Given the description of an element on the screen output the (x, y) to click on. 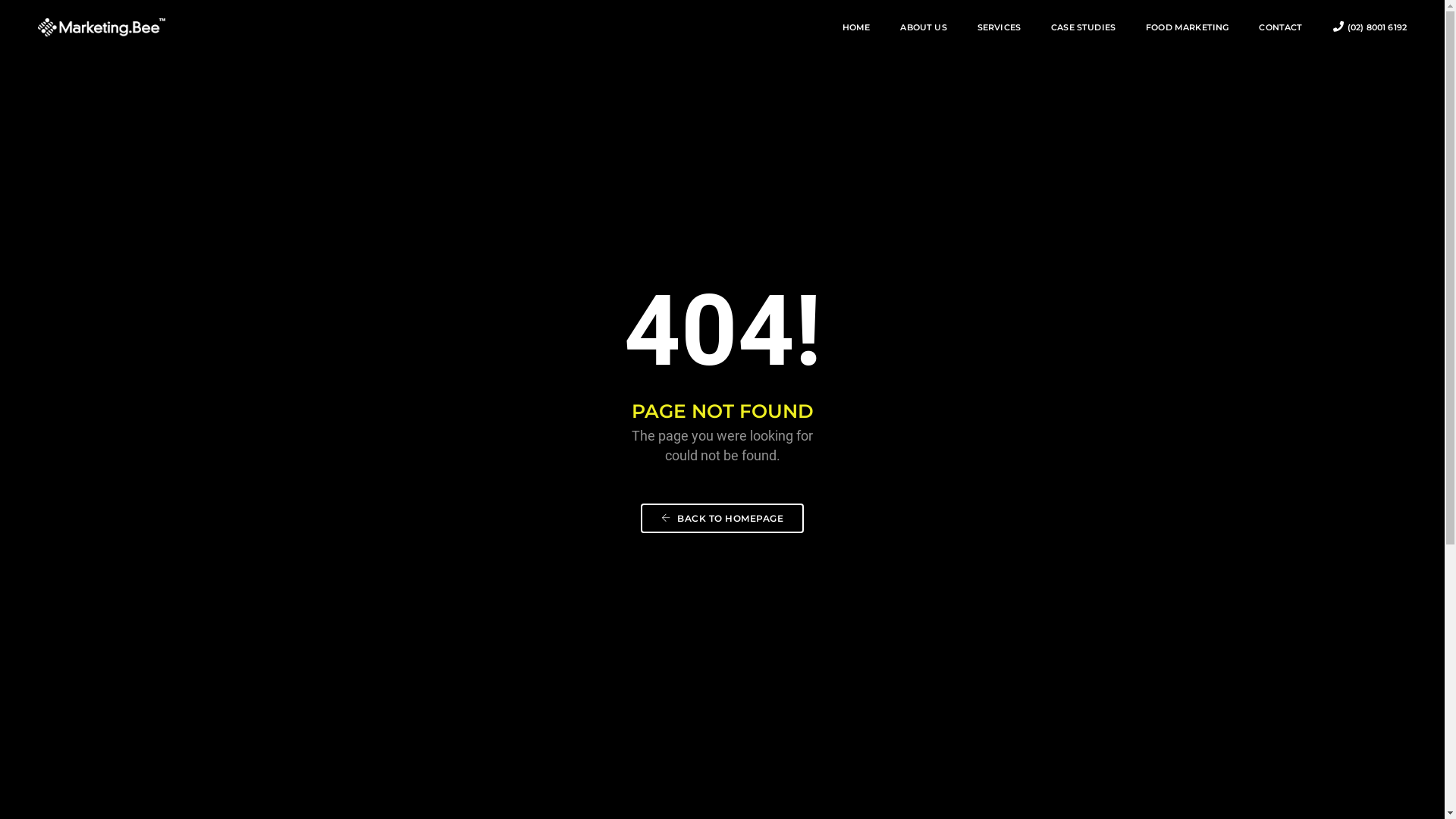
 BACK TO HOMEPAGE Element type: text (721, 518)
HOME Element type: text (856, 27)
Marketing Bee Element type: hover (420, 27)
(02) 8001 6192 Element type: text (1369, 27)
ABOUT US Element type: text (923, 27)
FOOD MARKETING Element type: text (1186, 27)
CONTACT Element type: text (1280, 27)
CASE STUDIES Element type: text (1083, 27)
SERVICES Element type: text (998, 27)
